Given the description of an element on the screen output the (x, y) to click on. 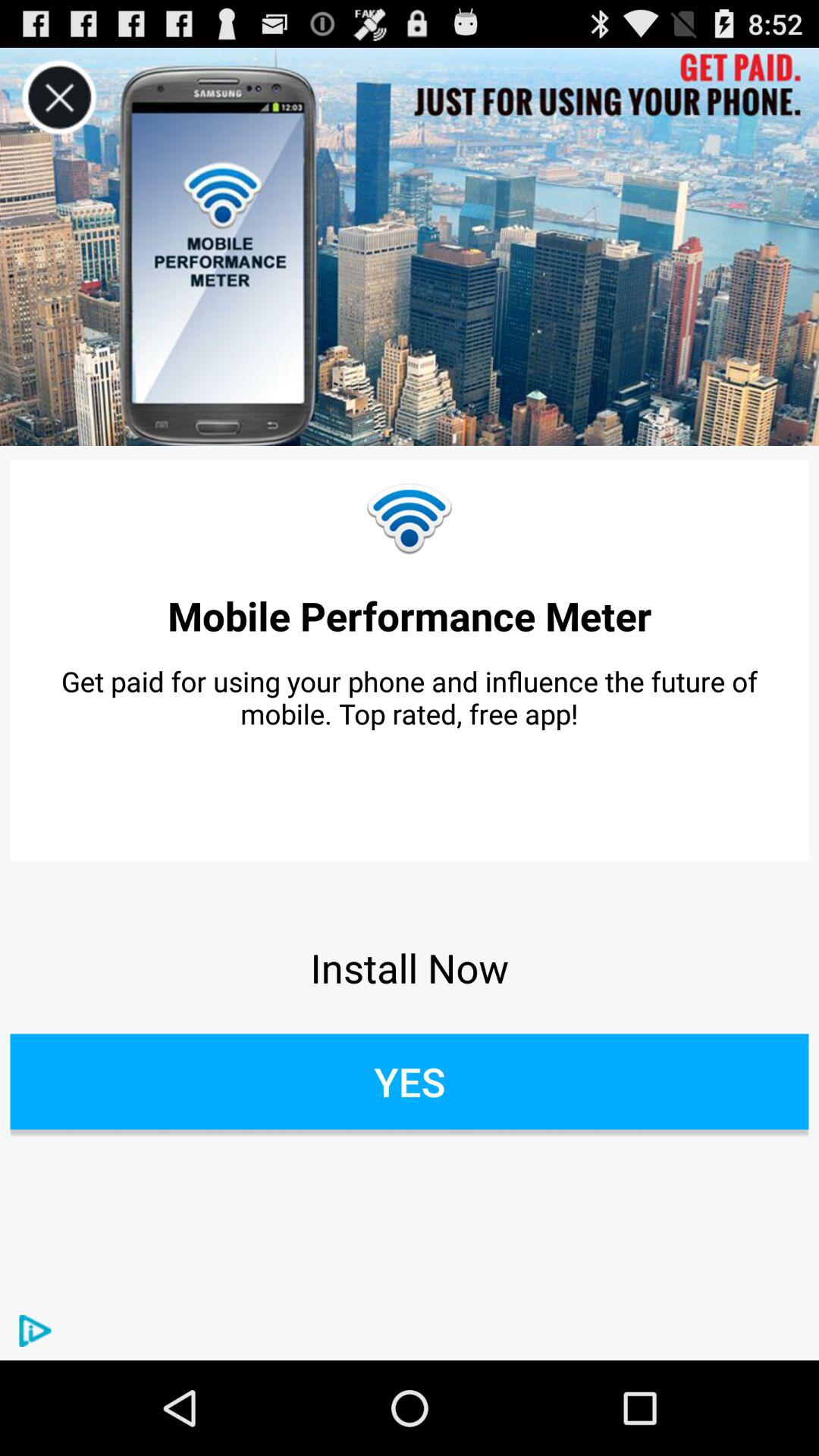
turn on the app below install now (409, 1081)
